Given the description of an element on the screen output the (x, y) to click on. 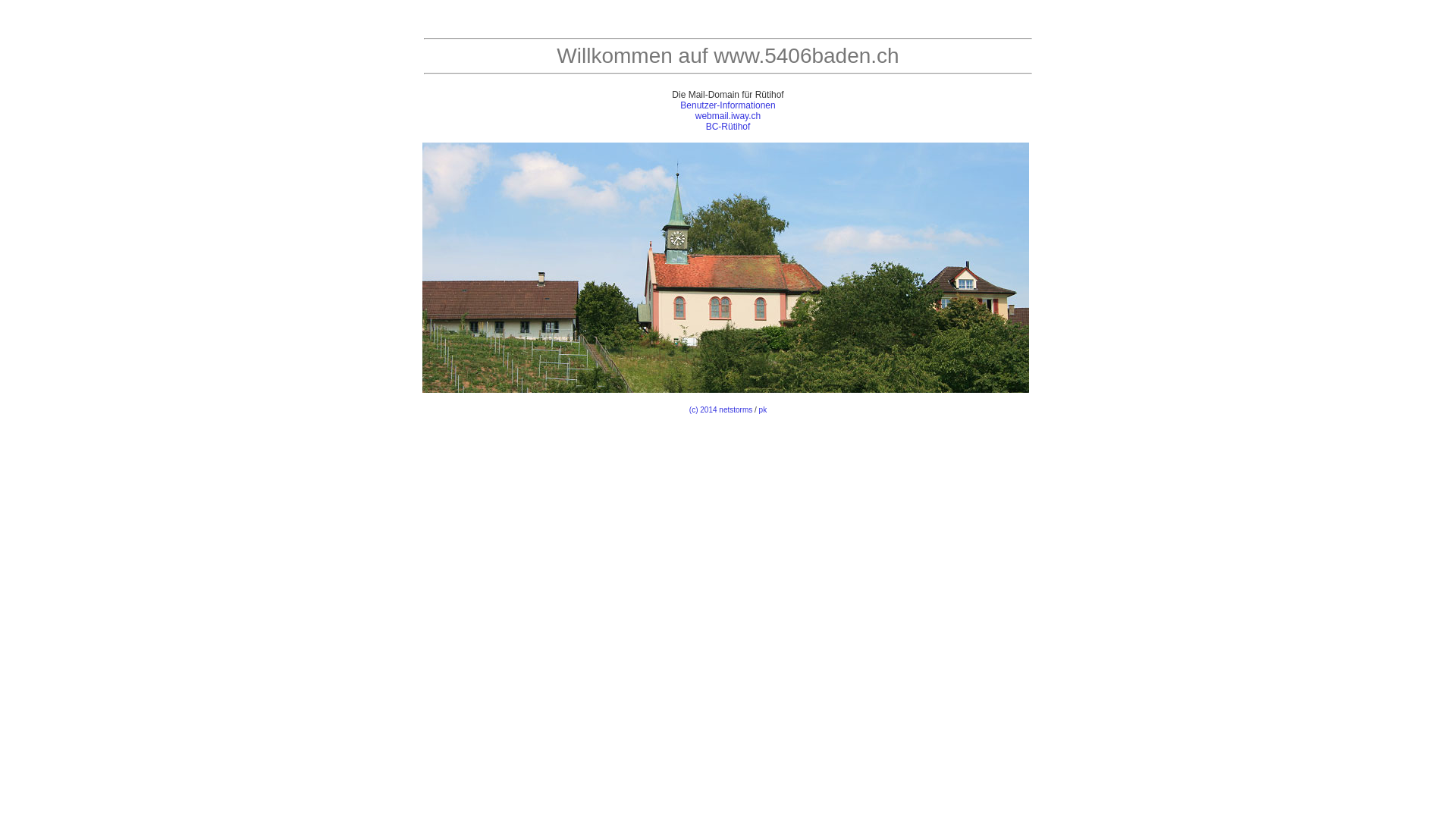
webmail.iway.ch Element type: text (727, 115)
Benutzer-Informationen Element type: text (727, 105)
(c) 2014 netstorms Element type: text (720, 409)
pk Element type: text (763, 409)
